Given the description of an element on the screen output the (x, y) to click on. 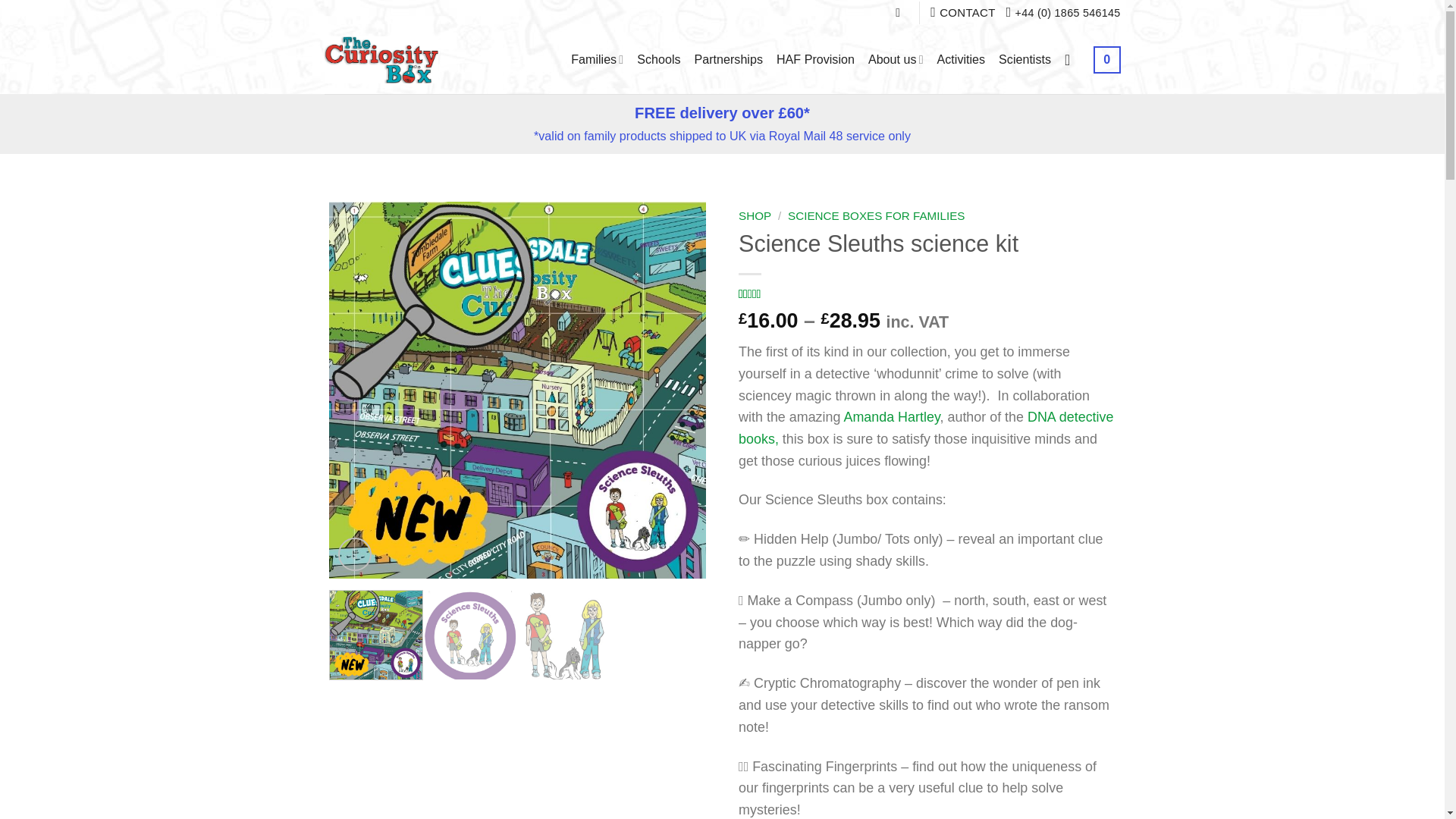
Amanda Hartley (891, 417)
DNA detective books, (925, 427)
Families (596, 59)
SHOP (754, 215)
Curiosity Box (926, 294)
Partnerships (381, 60)
CONTACT (728, 59)
Schools (962, 12)
Scientists (658, 59)
